Given the description of an element on the screen output the (x, y) to click on. 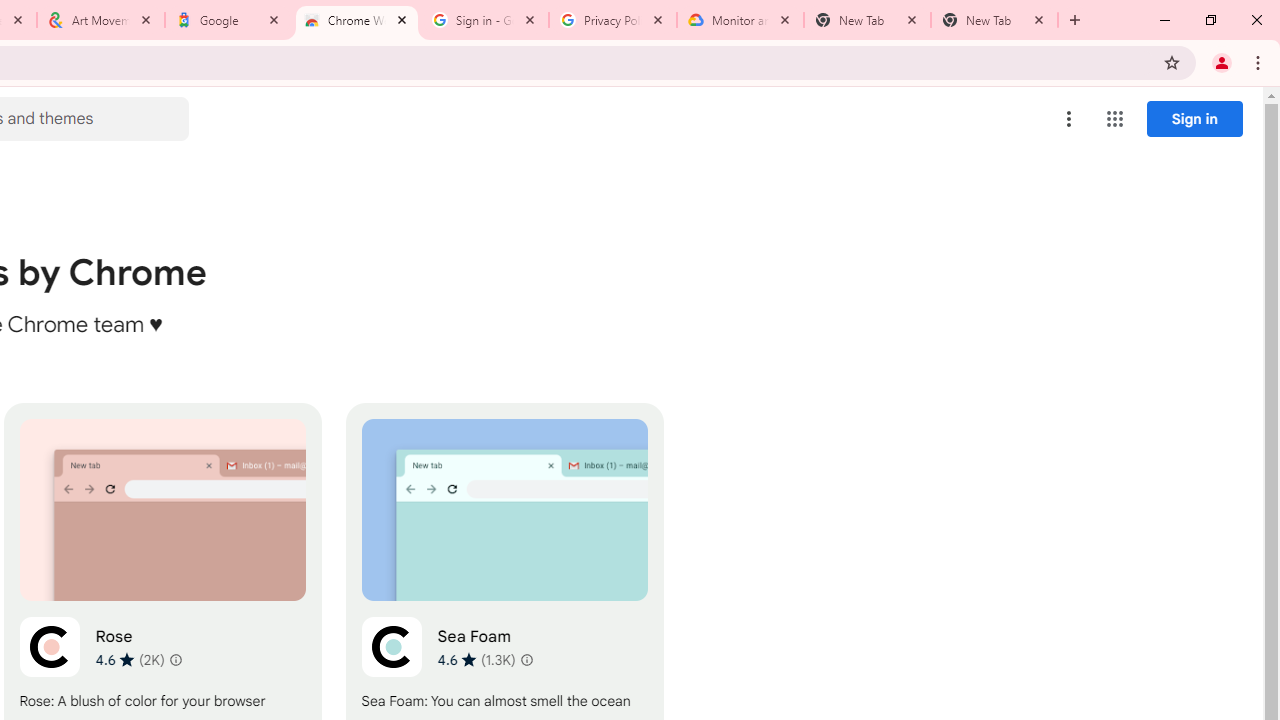
Average rating 4.6 out of 5 stars. 2K ratings. (129, 659)
Sign in (1194, 118)
Google apps (1114, 118)
Google (229, 20)
